Given the description of an element on the screen output the (x, y) to click on. 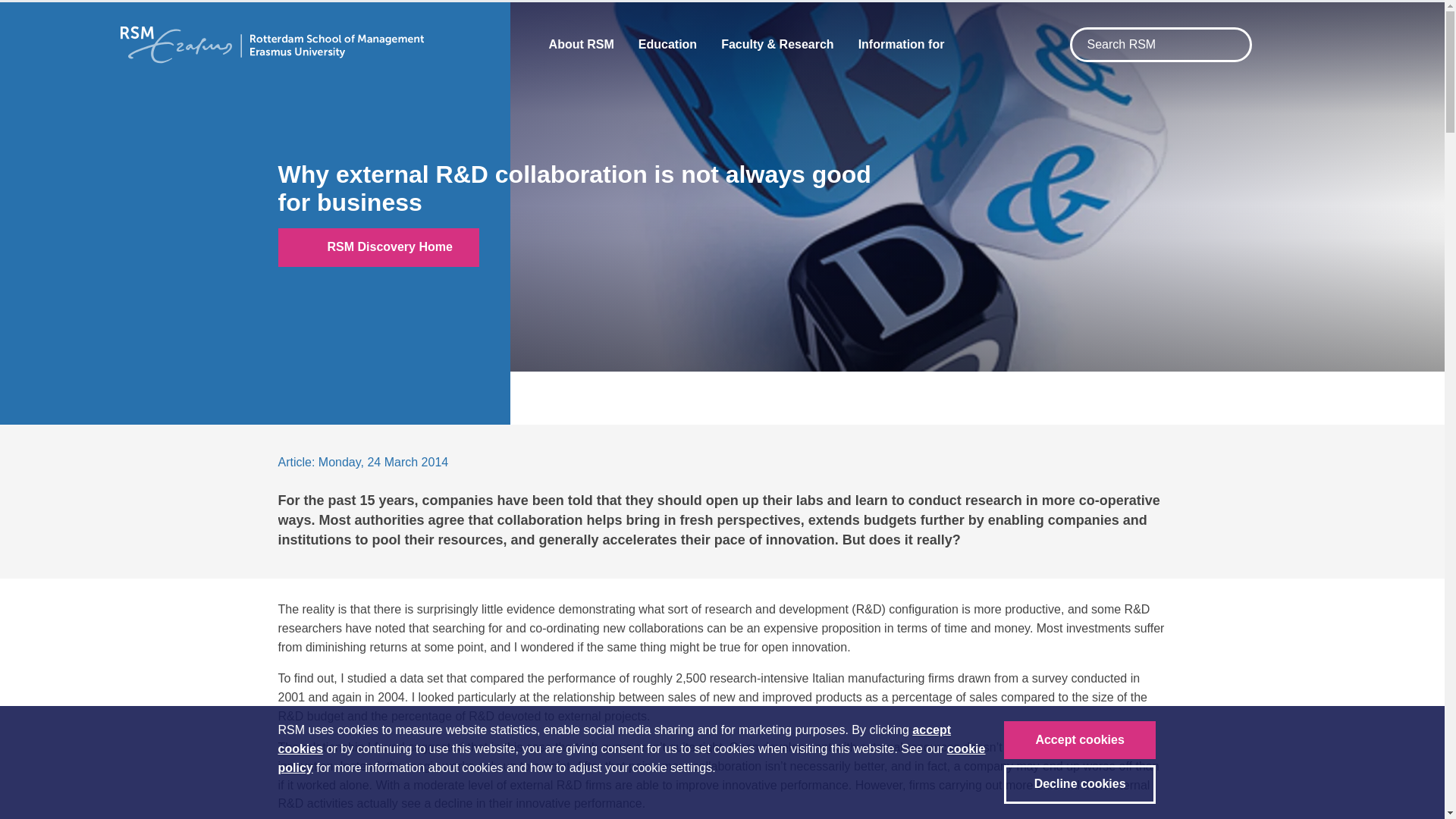
About RSM (581, 44)
Toon pagina in de taal: English (1278, 45)
Rotterdam School of Management, Erasmus University (271, 44)
